Given the description of an element on the screen output the (x, y) to click on. 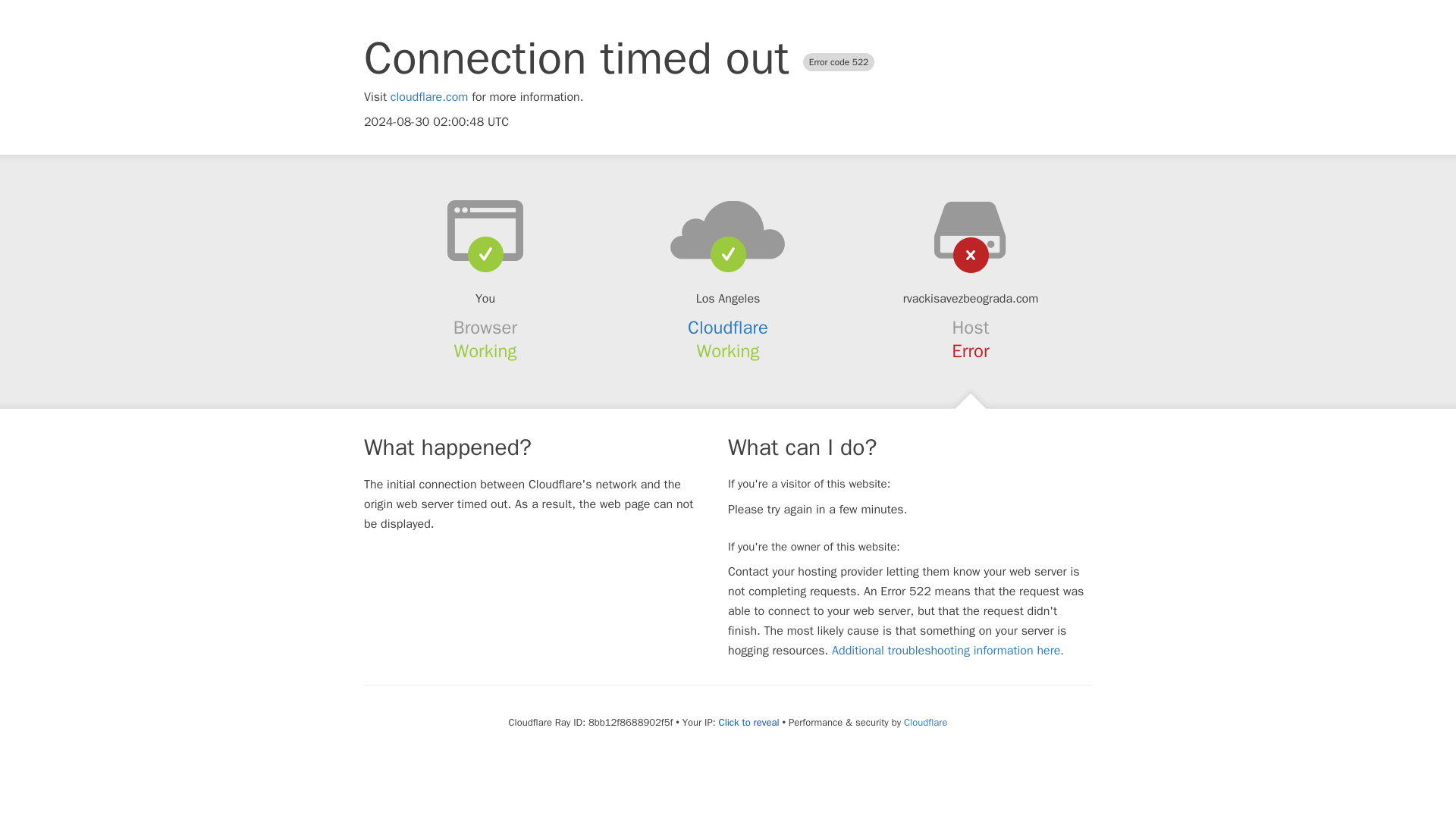
Cloudflare (727, 327)
Cloudflare (925, 721)
Click to reveal (748, 722)
Additional troubleshooting information here. (947, 650)
cloudflare.com (429, 96)
